Given the description of an element on the screen output the (x, y) to click on. 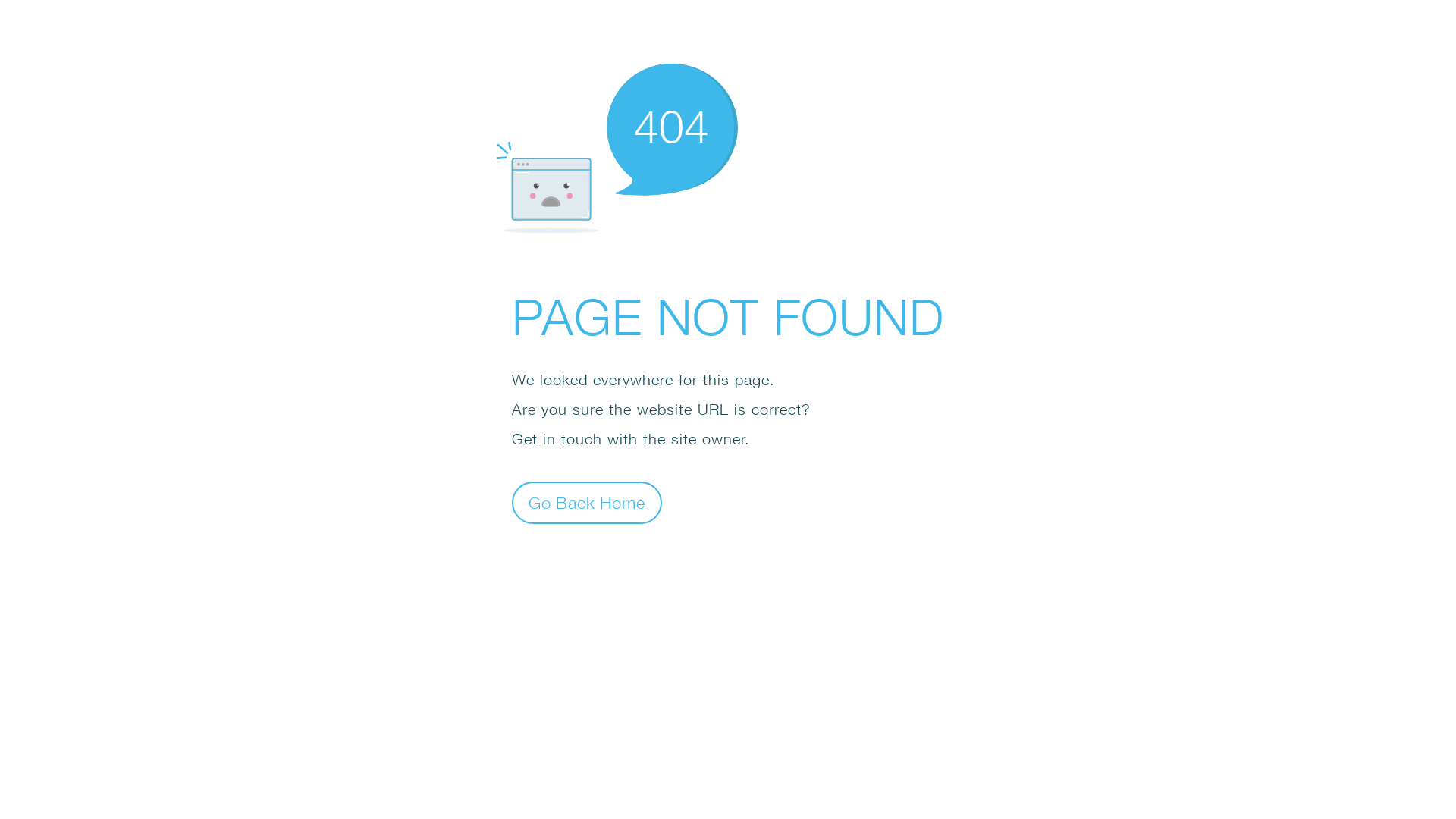
Go Back Home Element type: text (586, 502)
